Given the description of an element on the screen output the (x, y) to click on. 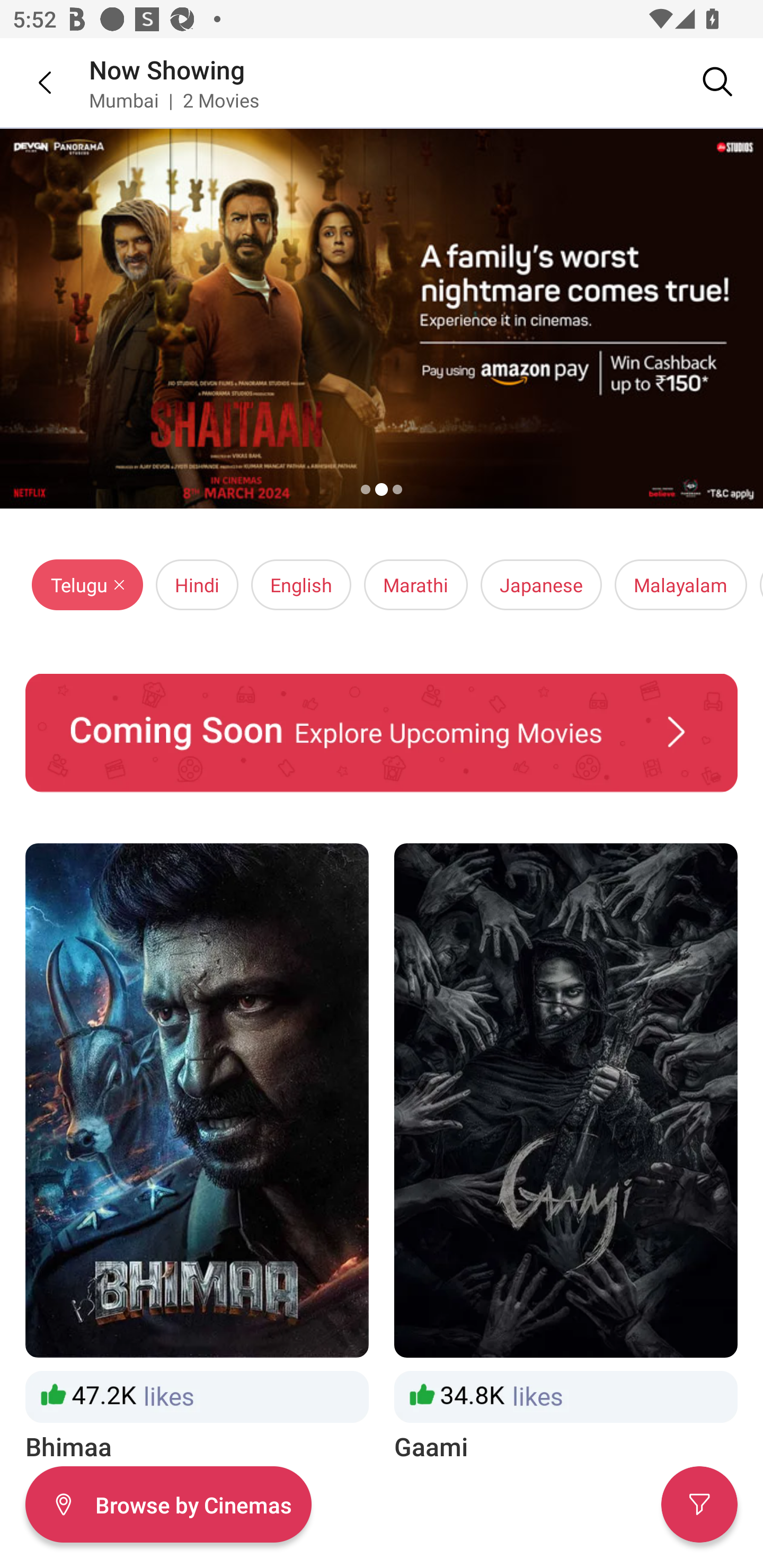
Back (31, 82)
Now Showing (166, 68)
Mumbai  |  2 Movies (174, 99)
Telugu Close (87, 584)
Hindi (196, 584)
English (300, 584)
Marathi (415, 584)
Japanese (541, 584)
Malayalam (680, 584)
Bhimaa (196, 1153)
Gaami (565, 1153)
Filter Browse by Cinemas (168, 1504)
Filter (699, 1504)
